Given the description of an element on the screen output the (x, y) to click on. 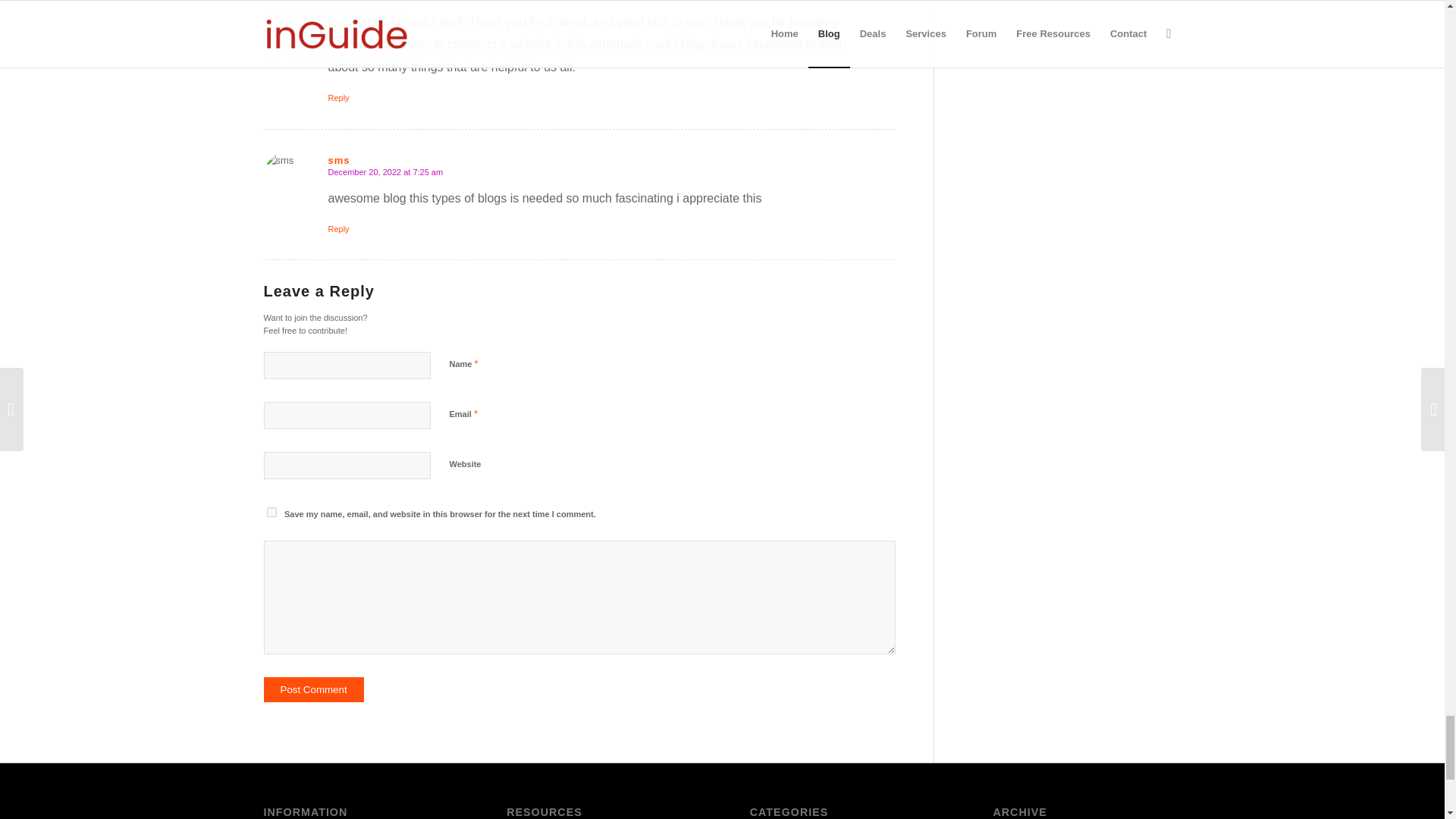
1 (456, 546)
yes (271, 511)
Post Comment (313, 689)
